Given the description of an element on the screen output the (x, y) to click on. 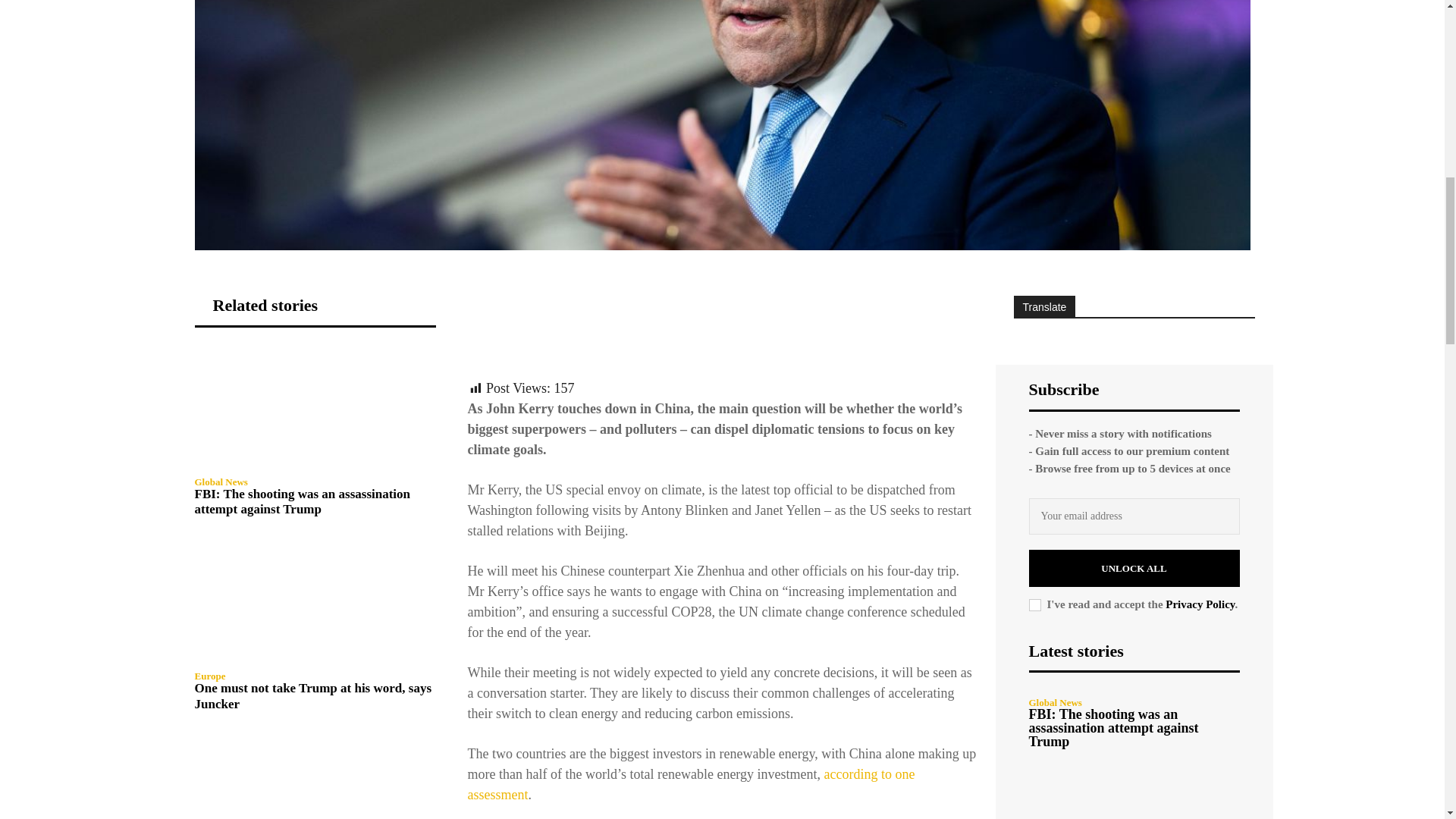
FBI: The shooting was an assassination attempt against Trump (314, 406)
FBI: The shooting was an assassination attempt against Trump (301, 501)
One must not take Trump at his word, says Juncker (314, 600)
